Given the description of an element on the screen output the (x, y) to click on. 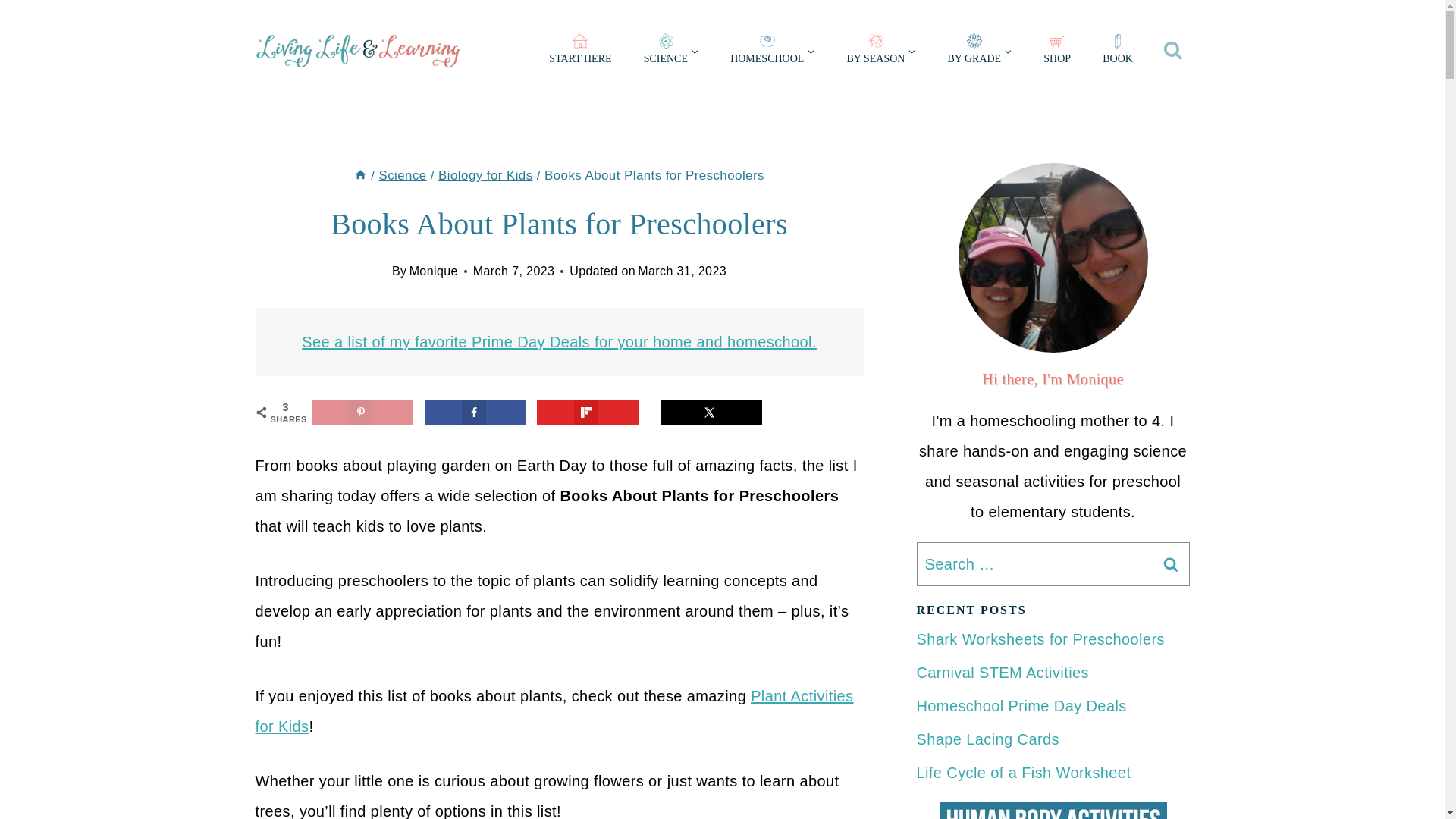
Share on Flipboard (588, 412)
Homeschooling Ideas (771, 51)
BY SEASON (880, 51)
START HERE (579, 51)
Homeschool Planning Book (1117, 51)
Share on X (711, 412)
BY GRADE (979, 51)
Save to Pinterest (363, 412)
New to homeschool? Start here (579, 51)
Home (359, 175)
Share on Facebook (475, 412)
The Living Life and Learning Shop (1056, 51)
HOMESCHOOL (771, 51)
Science Activities (670, 51)
SCIENCE (670, 51)
